Given the description of an element on the screen output the (x, y) to click on. 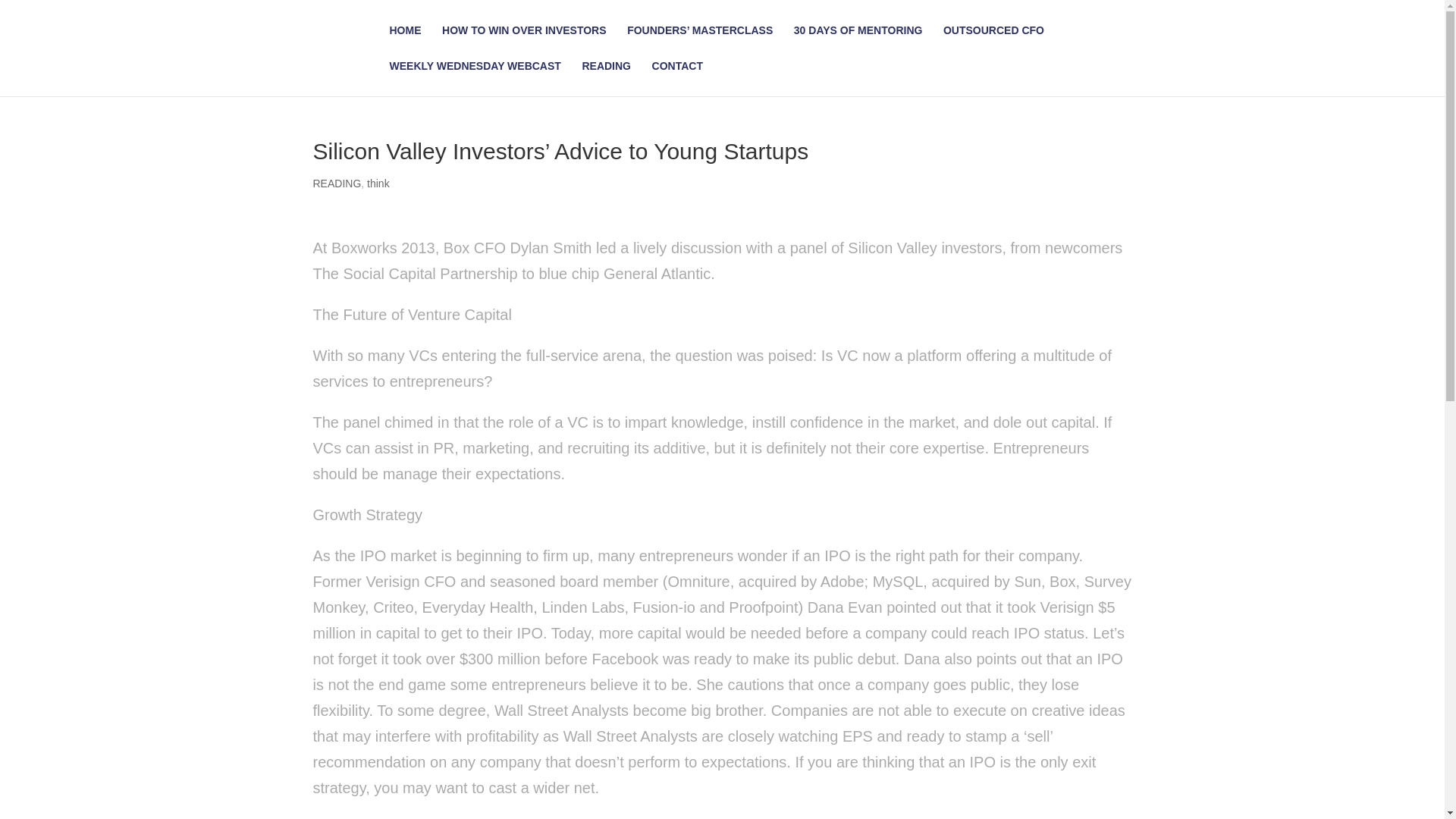
READING (337, 183)
CONTACT (677, 78)
OUTSOURCED CFO (993, 42)
HOW TO WIN OVER INVESTORS (524, 42)
WEEKLY WEDNESDAY WEBCAST (475, 78)
READING (605, 78)
HOME (406, 42)
30 DAYS OF MENTORING (858, 42)
think (378, 183)
